Given the description of an element on the screen output the (x, y) to click on. 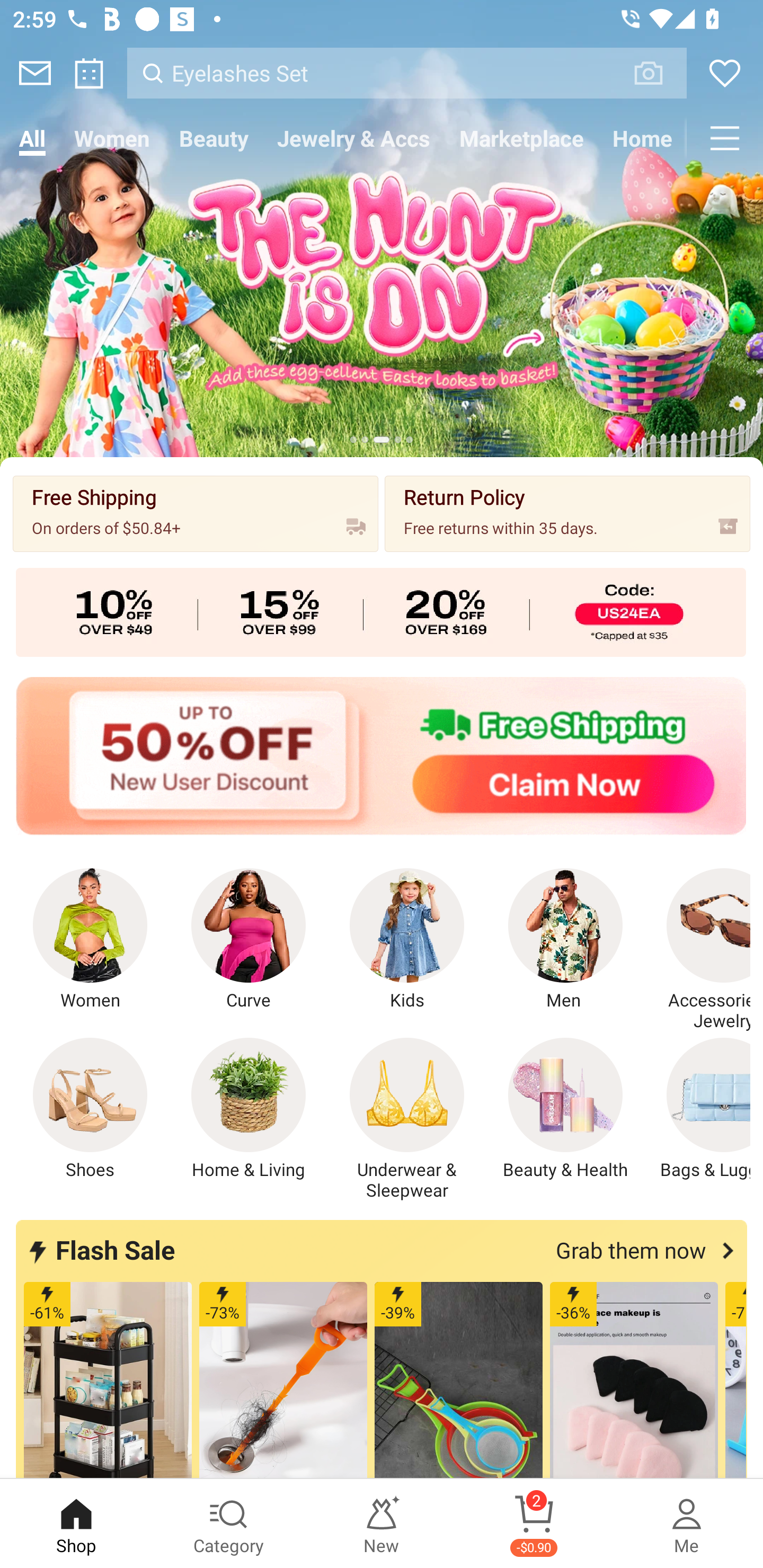
Wishlist (724, 72)
VISUAL SEARCH (657, 72)
All (31, 137)
Women (111, 137)
Beauty (213, 137)
Jewelry & Accs (353, 137)
Marketplace (521, 137)
Home (642, 137)
Free Shipping On orders of $50.84+ (195, 513)
Return Policy Free returns within 35 days. (567, 513)
Women (89, 939)
Curve (248, 939)
Kids (406, 939)
Men  (565, 939)
Accessories & Jewelry (698, 949)
Shoes (89, 1109)
Home & Living (248, 1109)
Underwear & Sleepwear (406, 1119)
Beauty & Health (565, 1109)
Bags & Luggage (698, 1109)
Category (228, 1523)
New (381, 1523)
Cart 2 -$0.90 (533, 1523)
Me (686, 1523)
